Given the description of an element on the screen output the (x, y) to click on. 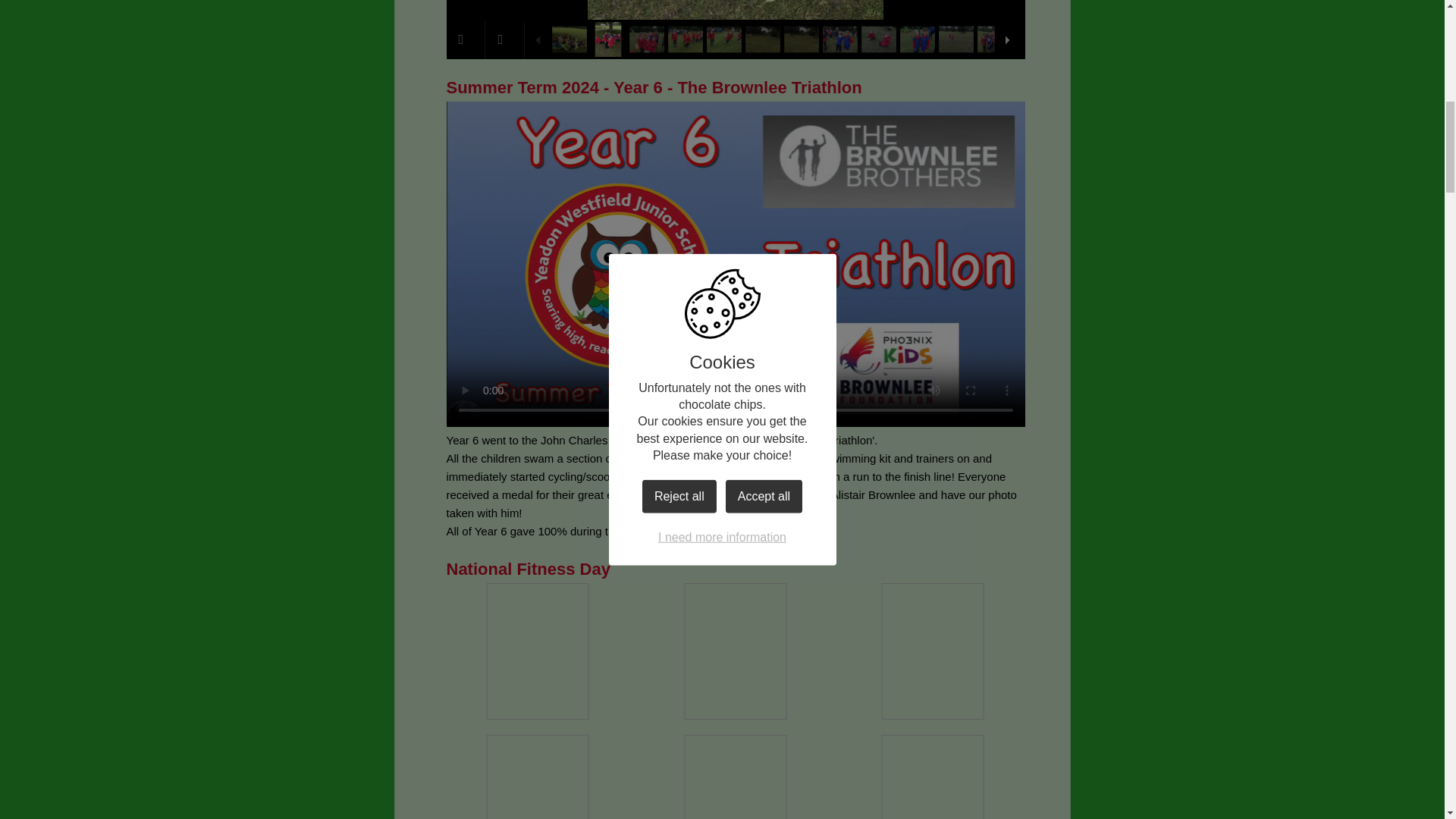
View large version of image (735, 776)
View large version of image (536, 650)
View large version of image (933, 650)
View large version of image (933, 776)
View large version of image (536, 776)
View large version of image (735, 650)
